Given the description of an element on the screen output the (x, y) to click on. 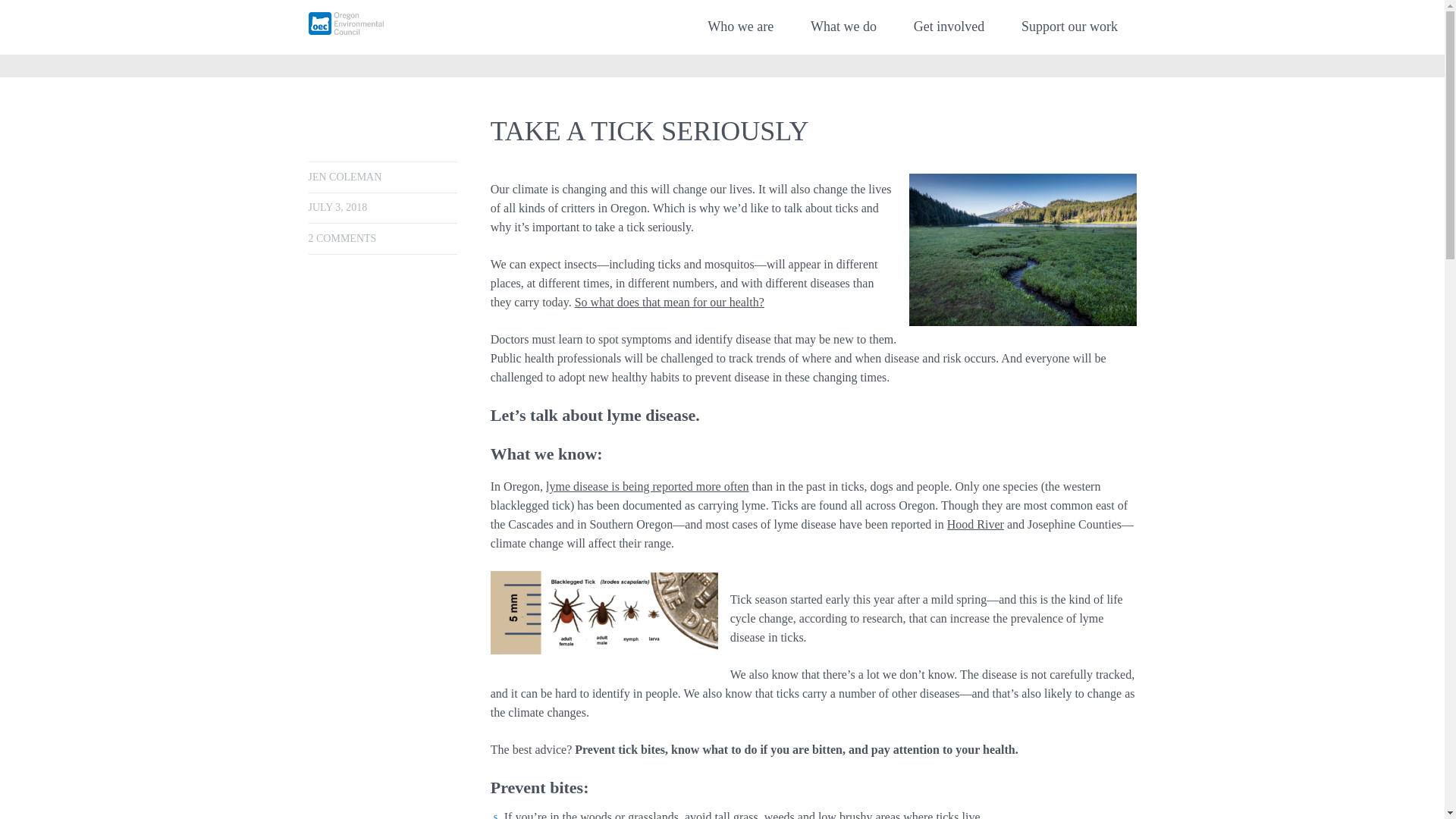
2 COMMENTS (341, 238)
Support our work (1069, 27)
Who we are (740, 27)
Posts by Jen Coleman (344, 176)
So what does that mean for our health? (669, 301)
JEN COLEMAN (344, 176)
Get involved (948, 27)
What we do (842, 27)
Hood River (975, 523)
lyme disease is being reported more often (647, 486)
